Given the description of an element on the screen output the (x, y) to click on. 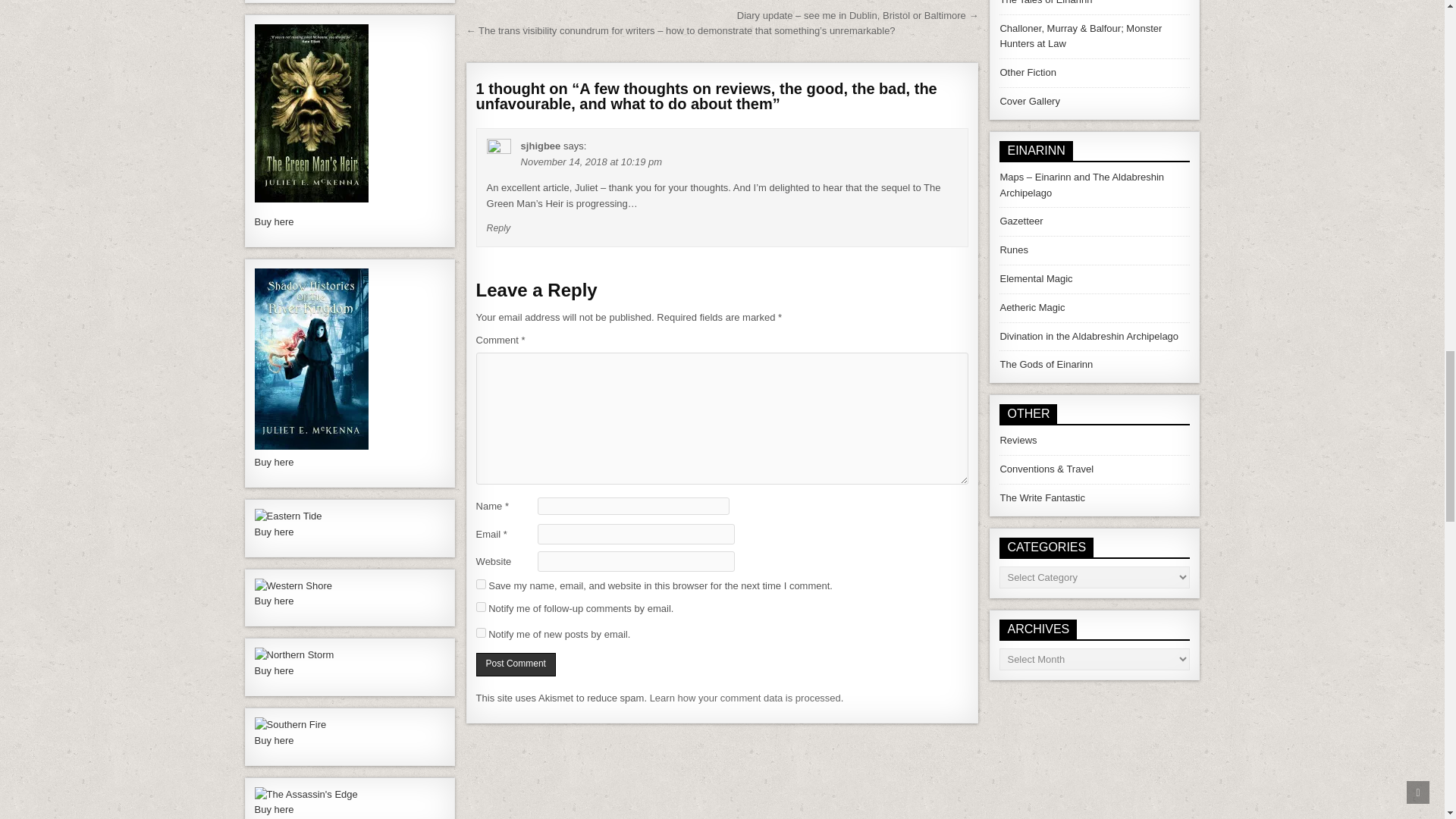
Post Comment (516, 664)
subscribe (481, 606)
yes (481, 583)
subscribe (481, 633)
